Given the description of an element on the screen output the (x, y) to click on. 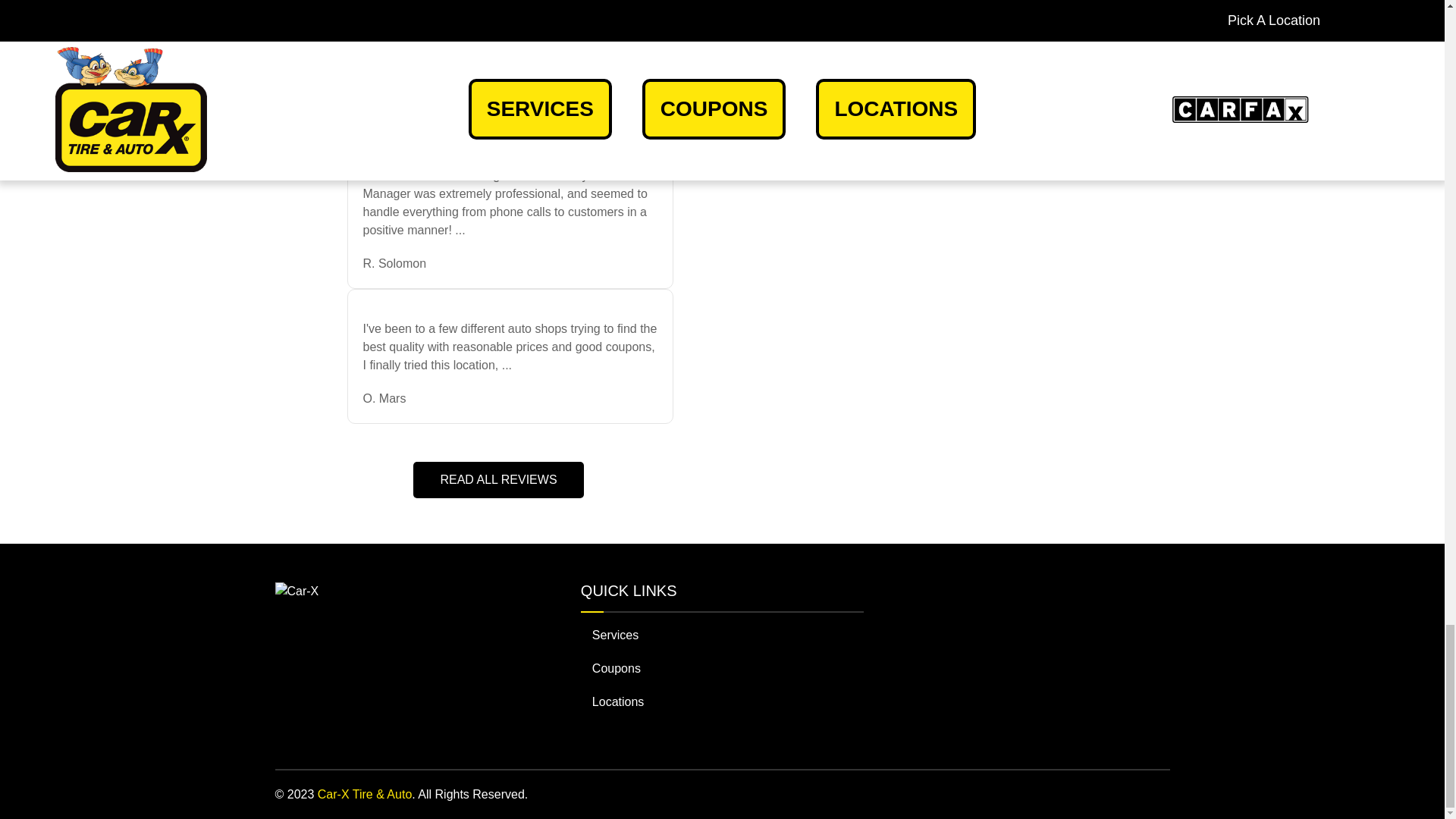
Services (721, 635)
Locations (721, 702)
READ ALL REVIEWS (498, 479)
Car-X (296, 591)
Coupons (721, 668)
